Given the description of an element on the screen output the (x, y) to click on. 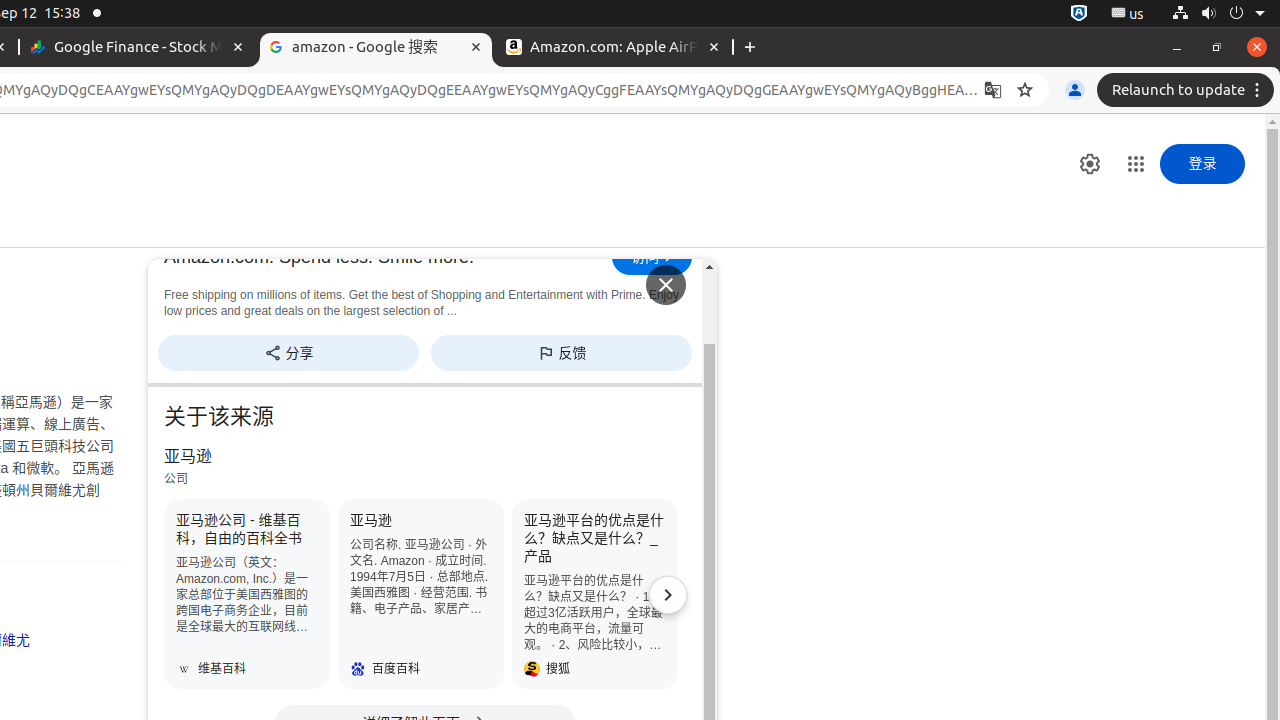
Translate this page Element type: push-button (993, 90)
amazon - Google 搜索 - Memory usage - 86.9 MB Element type: page-tab (376, 47)
Google 应用 Element type: push-button (1136, 164)
亚马逊平台的优点是什么？缺点又是什么？_产品 Element type: link (595, 593)
反馈 Element type: push-button (561, 352)
